Given the description of an element on the screen output the (x, y) to click on. 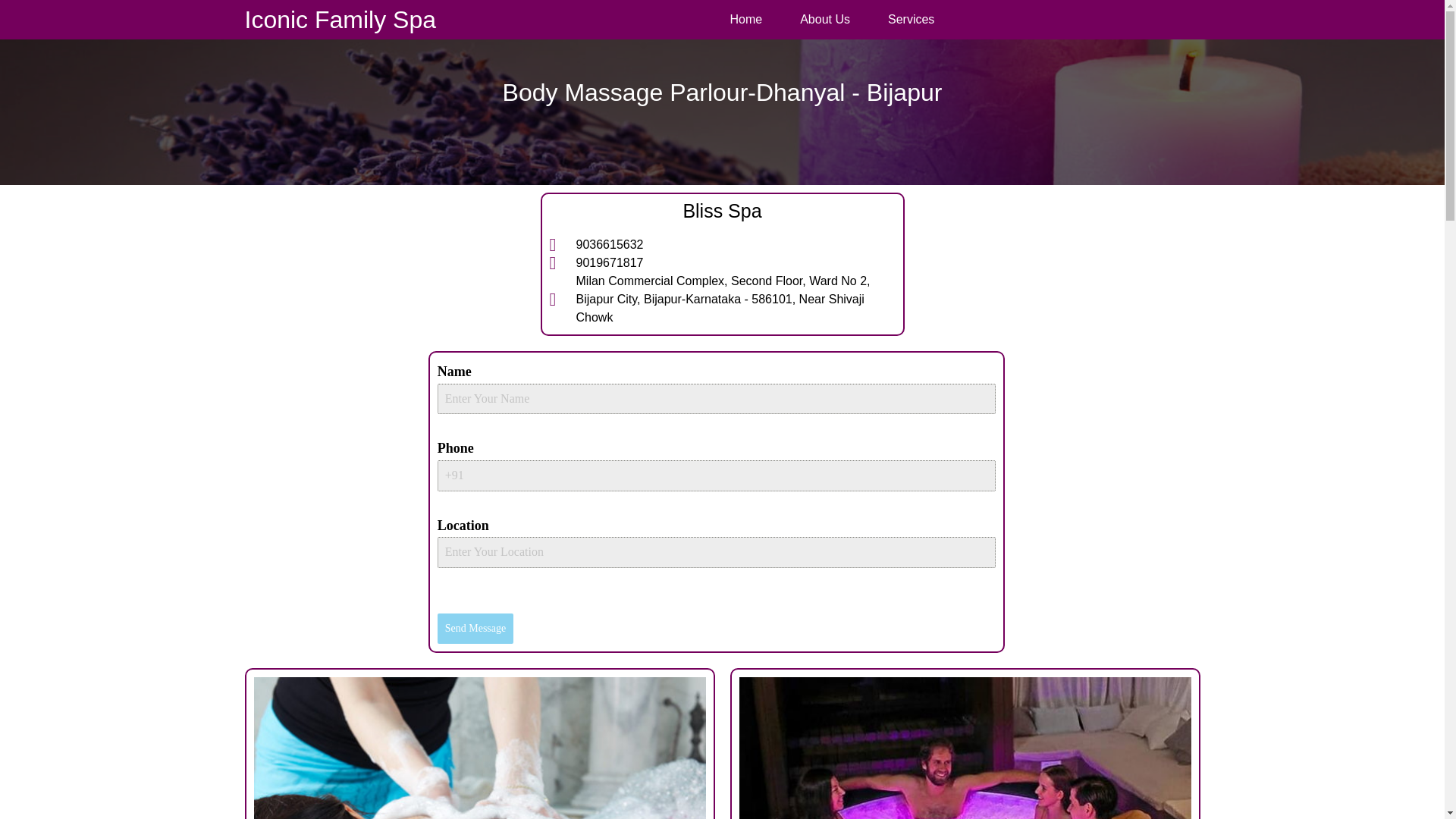
About Us (824, 19)
Home (745, 19)
Send Message (475, 628)
9036615632 (721, 244)
Services (911, 19)
9019671817 (721, 262)
Iconic Family Spa (339, 19)
